Given the description of an element on the screen output the (x, y) to click on. 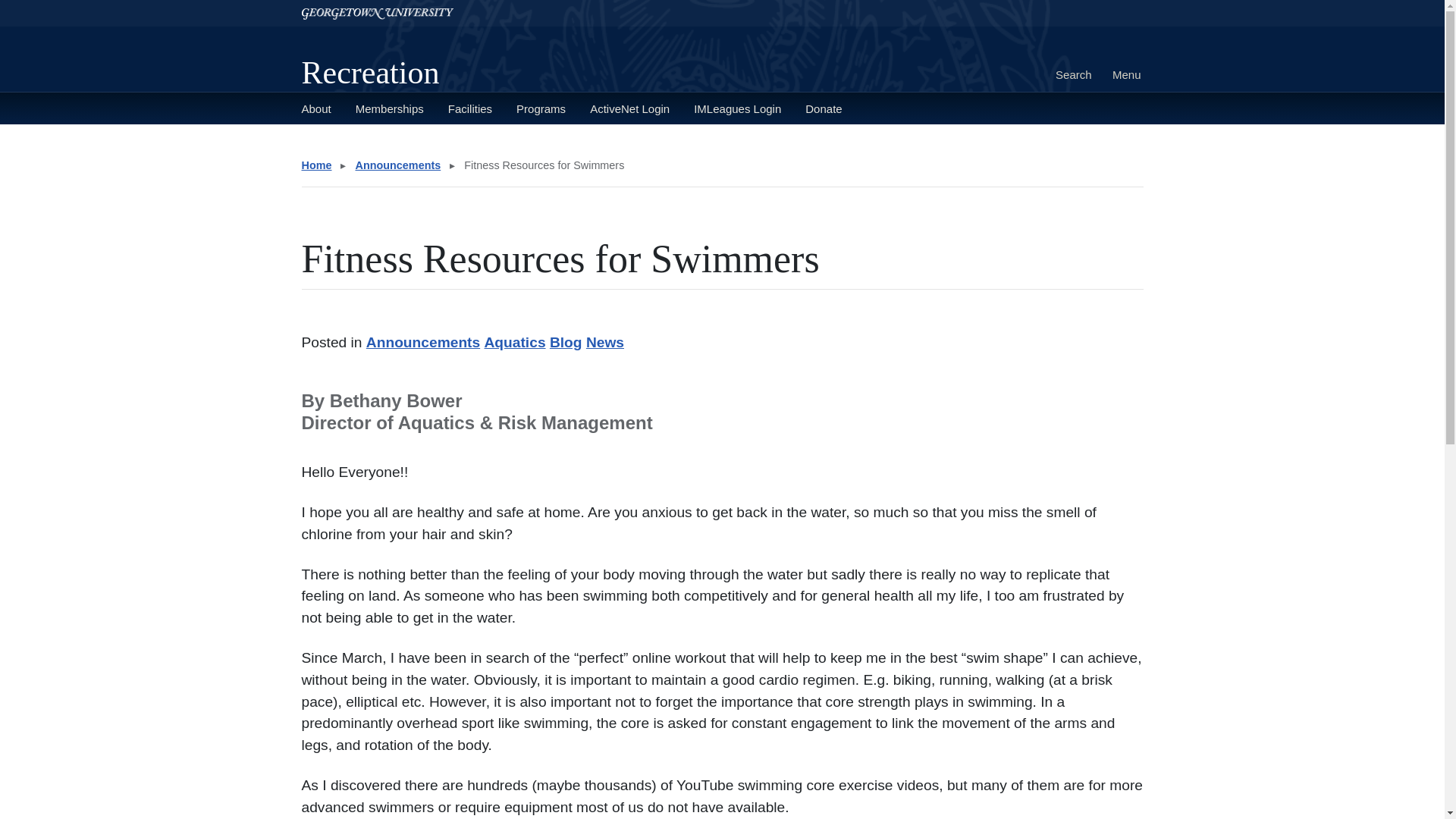
Facilities (470, 107)
Search (1073, 75)
About (316, 107)
Toggle sub-navigation (519, 144)
Toggle sub-navigation (426, 144)
Recreation (370, 72)
Menu (1125, 75)
Skip to main content (55, 6)
Memberships (389, 107)
Toggle sub-navigation (372, 144)
Skip to main site menu (61, 6)
